Given the description of an element on the screen output the (x, y) to click on. 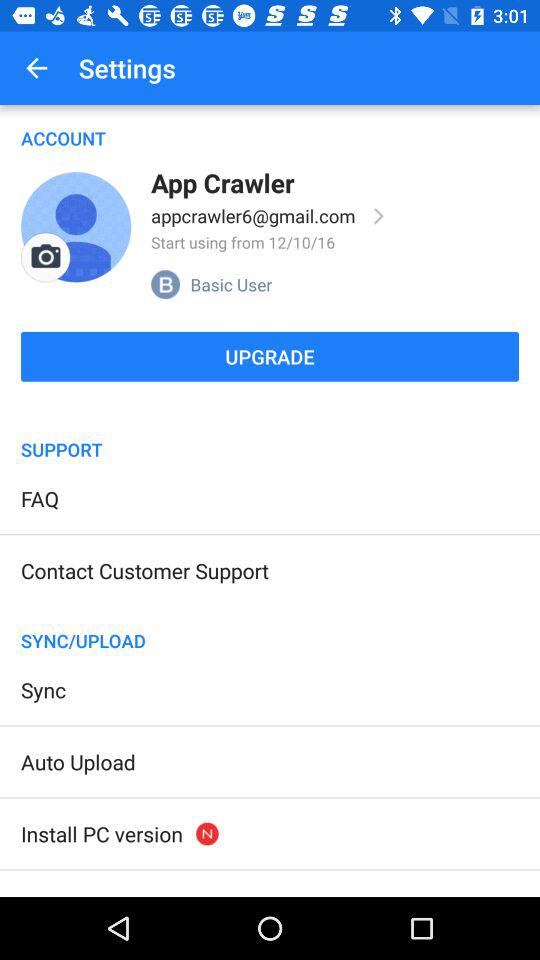
view full profile info (379, 215)
